Given the description of an element on the screen output the (x, y) to click on. 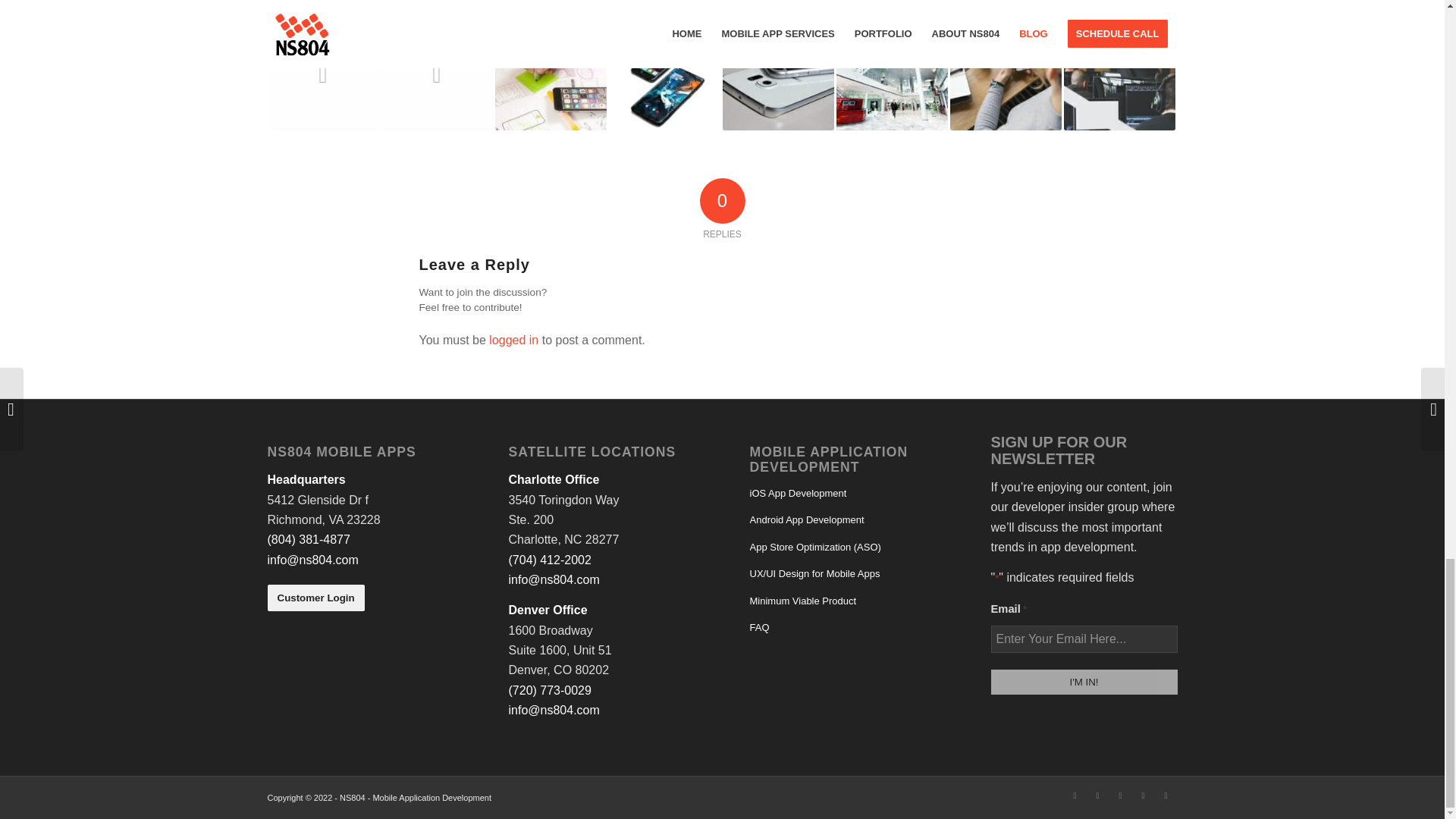
I'M IN! (1083, 681)
Top 10 Mobile Apps For Doctors (322, 74)
Top Features for Medical Apps Used by Doctors (436, 74)
